Given the description of an element on the screen output the (x, y) to click on. 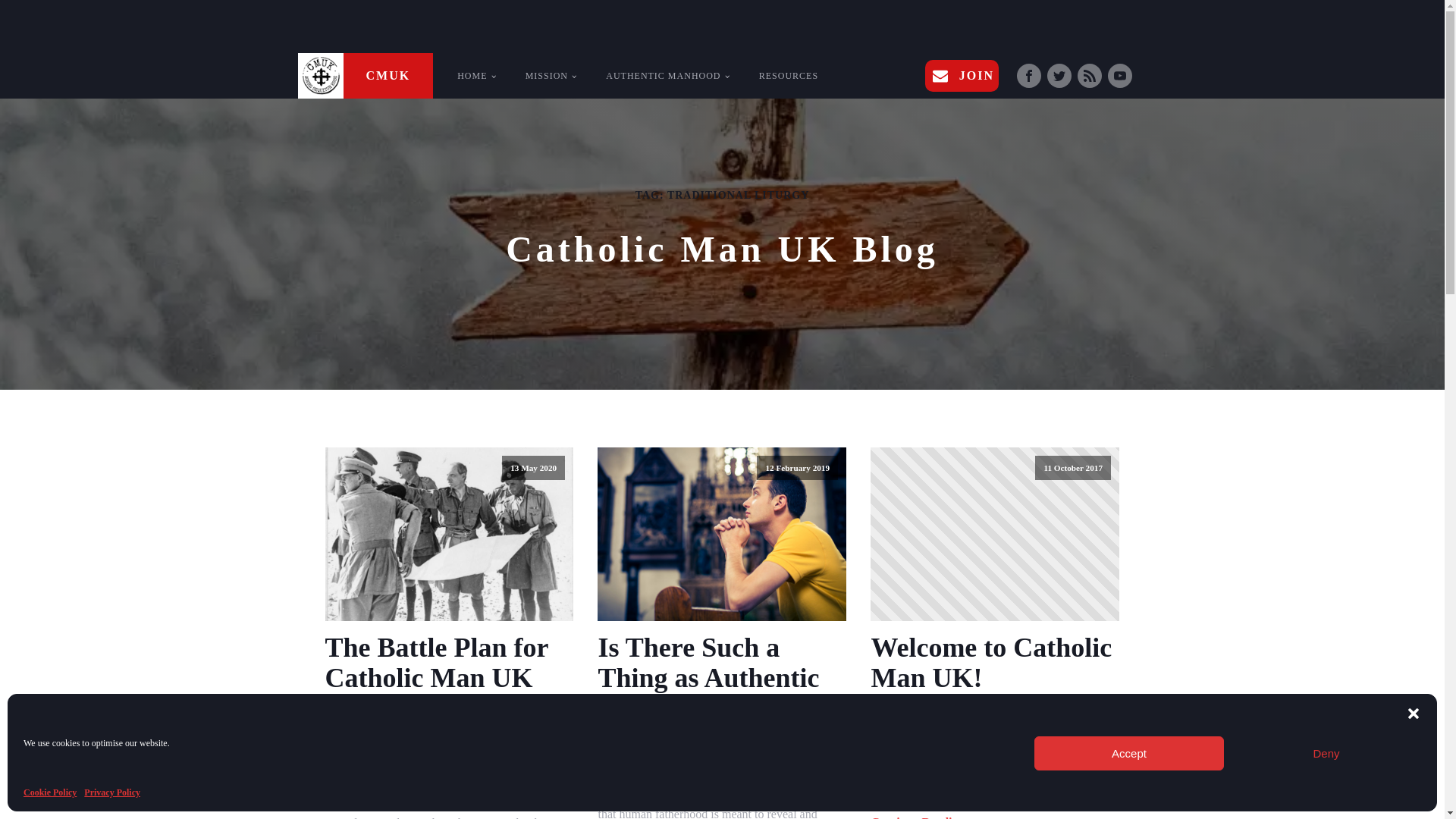
13 May 2020 (448, 534)
RESOURCES (788, 75)
AUTHENTIC MANHOOD (667, 75)
HOME (476, 75)
Deny (1326, 753)
MISSION (551, 75)
11 October 2017 (994, 534)
Accept (1128, 753)
Is There Such a Thing as Authentic Catholic Manhood? (720, 678)
Continue Reading (916, 817)
Welcome to Catholic Man UK! (994, 662)
CMUK (364, 75)
Cookie Policy (50, 792)
Privacy Policy (111, 792)
The Battle Plan for Catholic Man UK (448, 662)
